Given the description of an element on the screen output the (x, y) to click on. 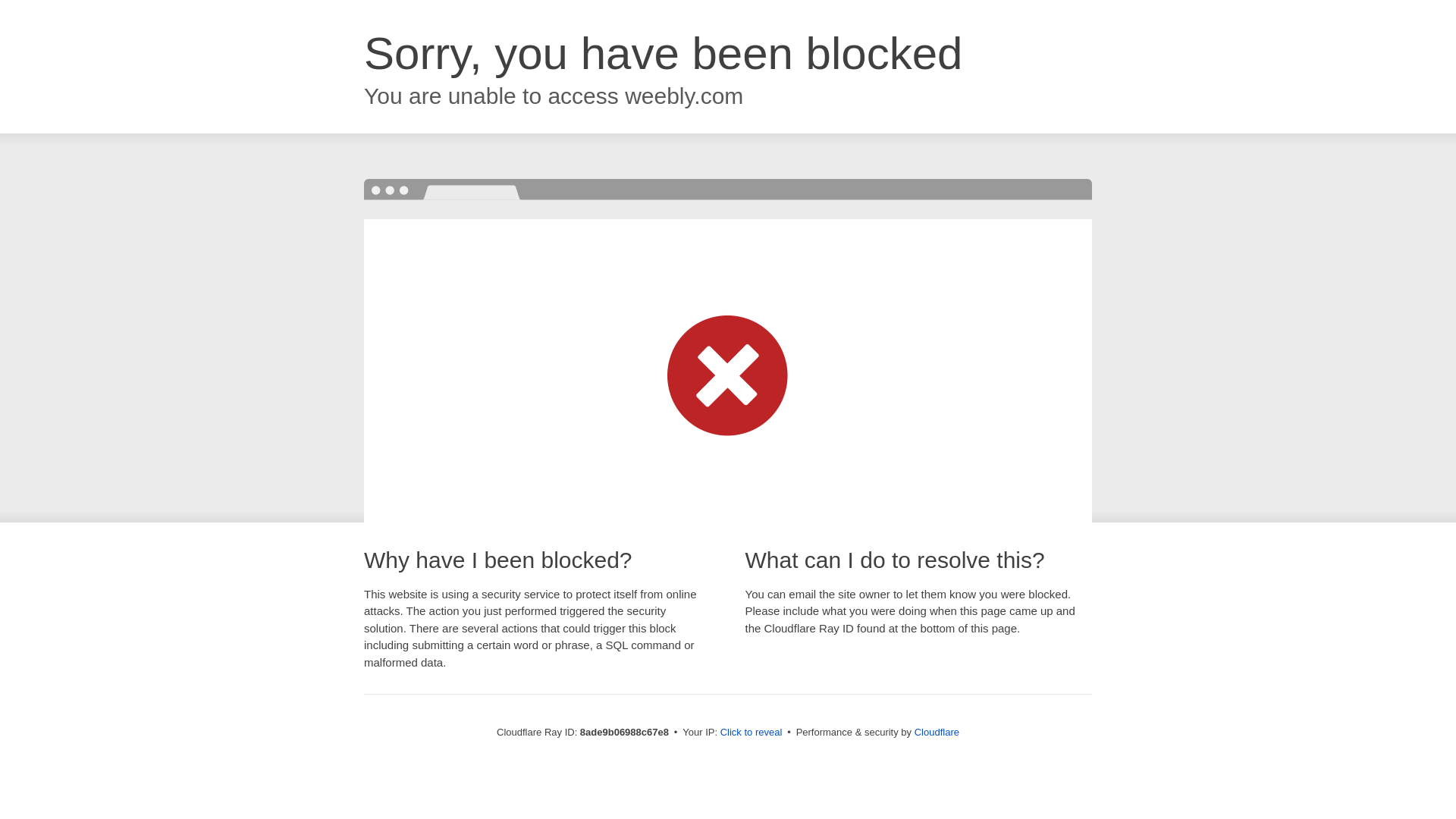
Cloudflare (936, 731)
Click to reveal (751, 732)
